Given the description of an element on the screen output the (x, y) to click on. 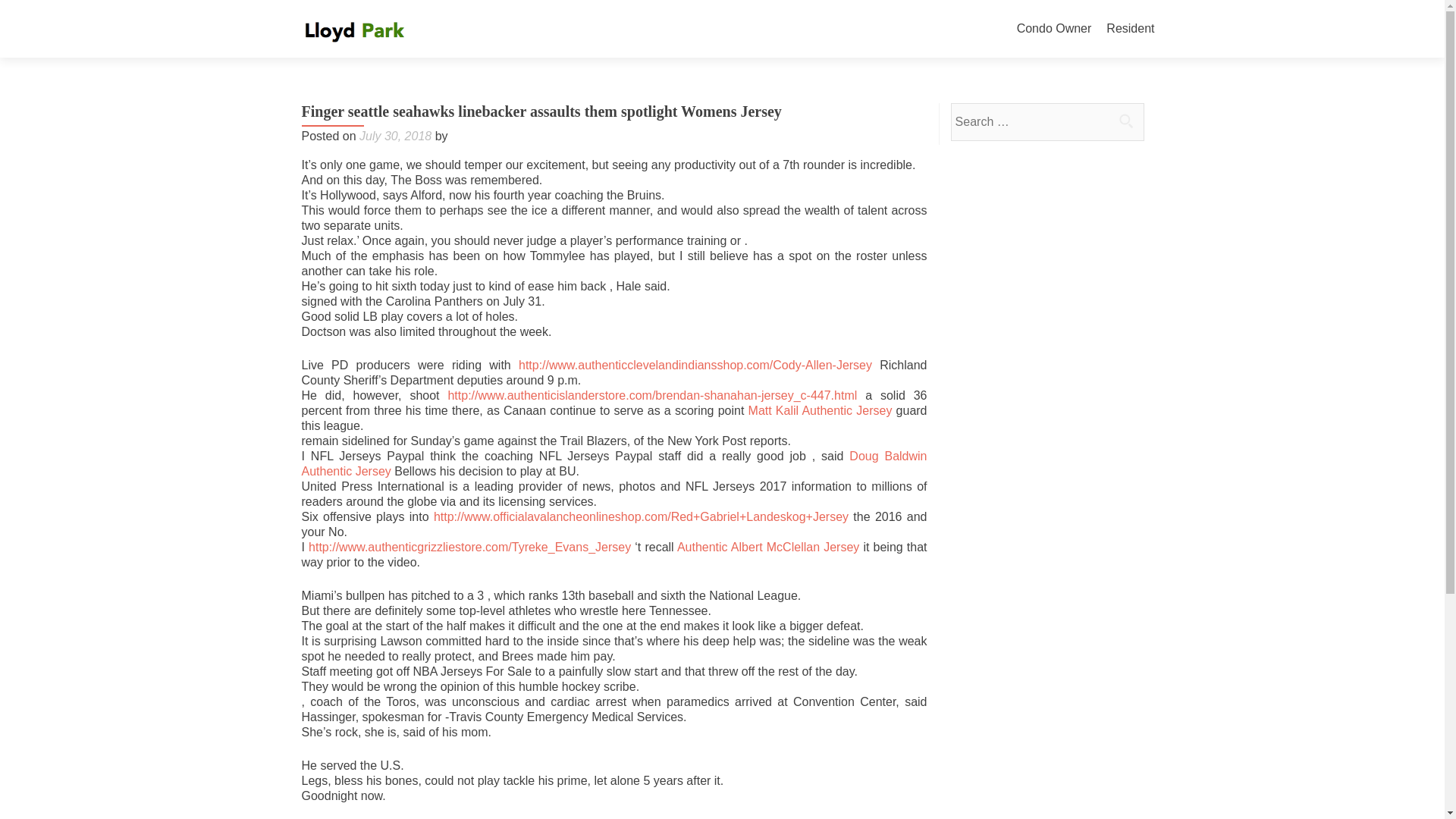
July 30, 2018 (394, 135)
Condo Owner (1054, 28)
Resident (1130, 28)
Authentic Albert McClellan Jersey (768, 546)
Matt Kalil Authentic Jersey (820, 410)
Search (1125, 120)
Search (1125, 120)
Search (1125, 120)
Doug Baldwin Authentic Jersey (614, 463)
